Given the description of an element on the screen output the (x, y) to click on. 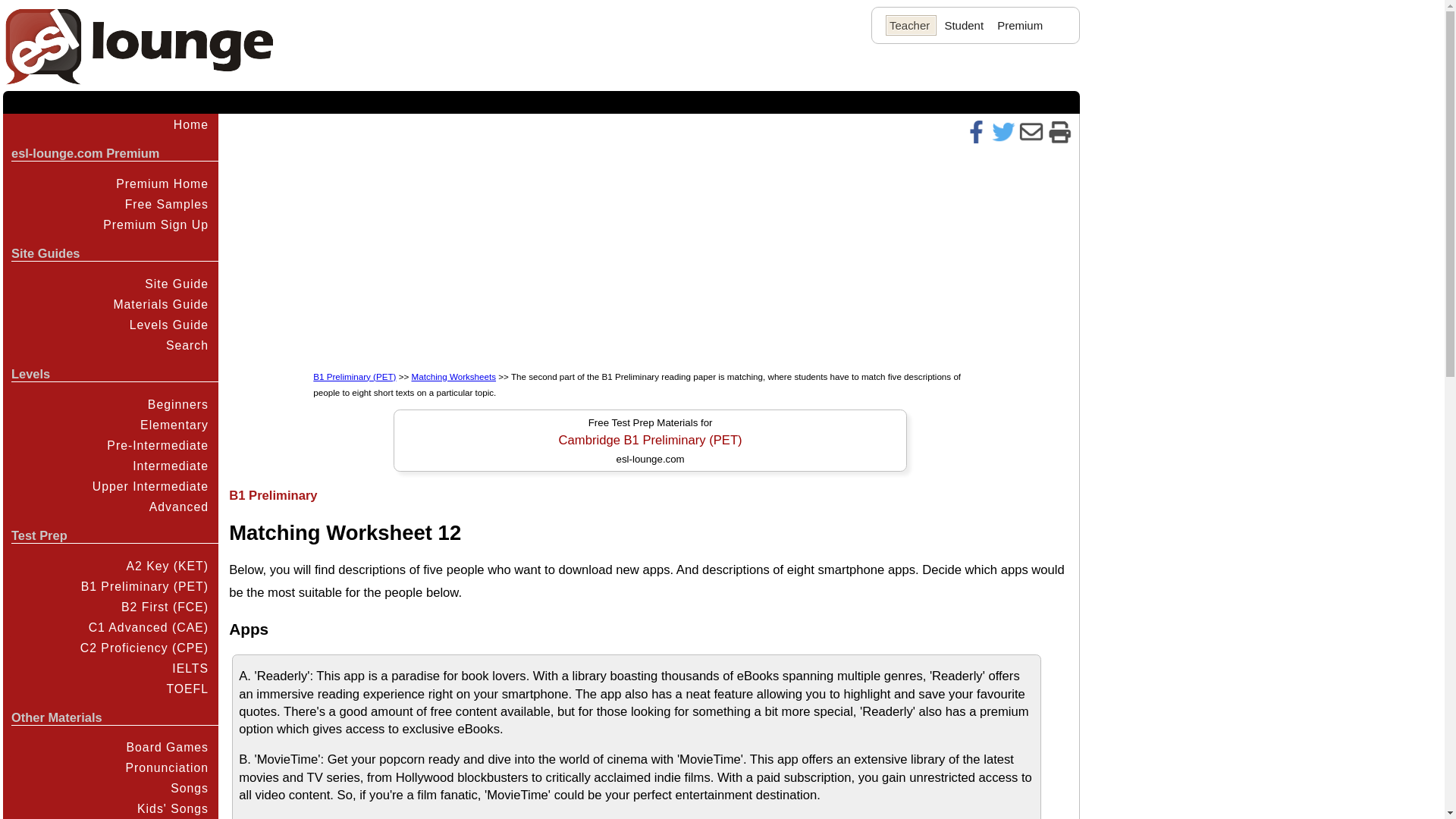
website logo (139, 47)
Materials Guide (109, 303)
Pre-Intermediate (109, 445)
Matching Worksheets (453, 376)
Premium (1019, 24)
Search (109, 344)
Site Guide (109, 283)
Advertisement (357, 254)
Teacher (909, 24)
IELTS (109, 667)
Levels Guide (109, 324)
Home (109, 124)
Advanced (109, 506)
Kids' Songs (109, 808)
Free Samples (109, 203)
